Given the description of an element on the screen output the (x, y) to click on. 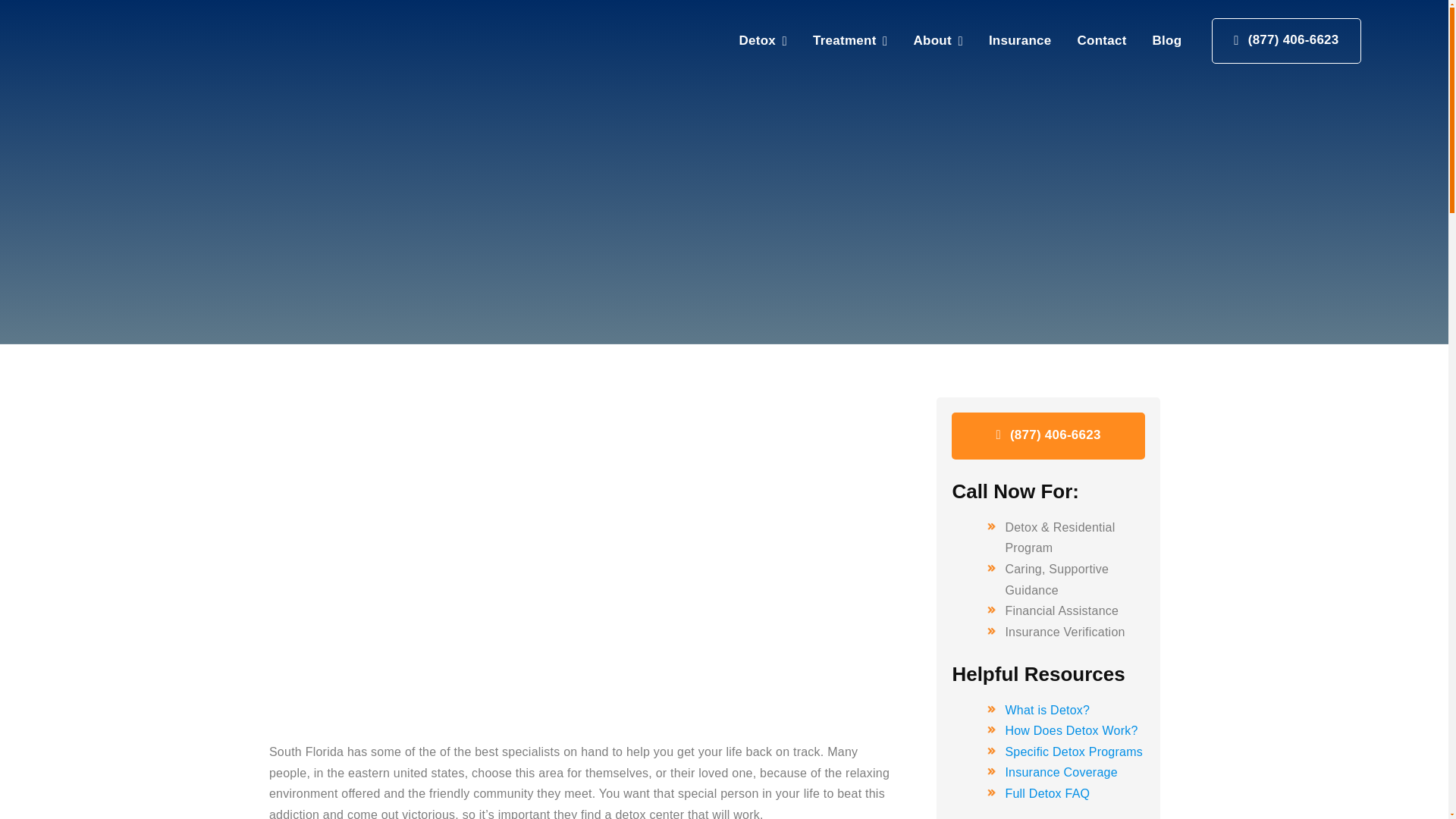
About (938, 40)
Contact (1101, 40)
Treatment (850, 40)
Detox (763, 40)
Insurance (1019, 40)
